Given the description of an element on the screen output the (x, y) to click on. 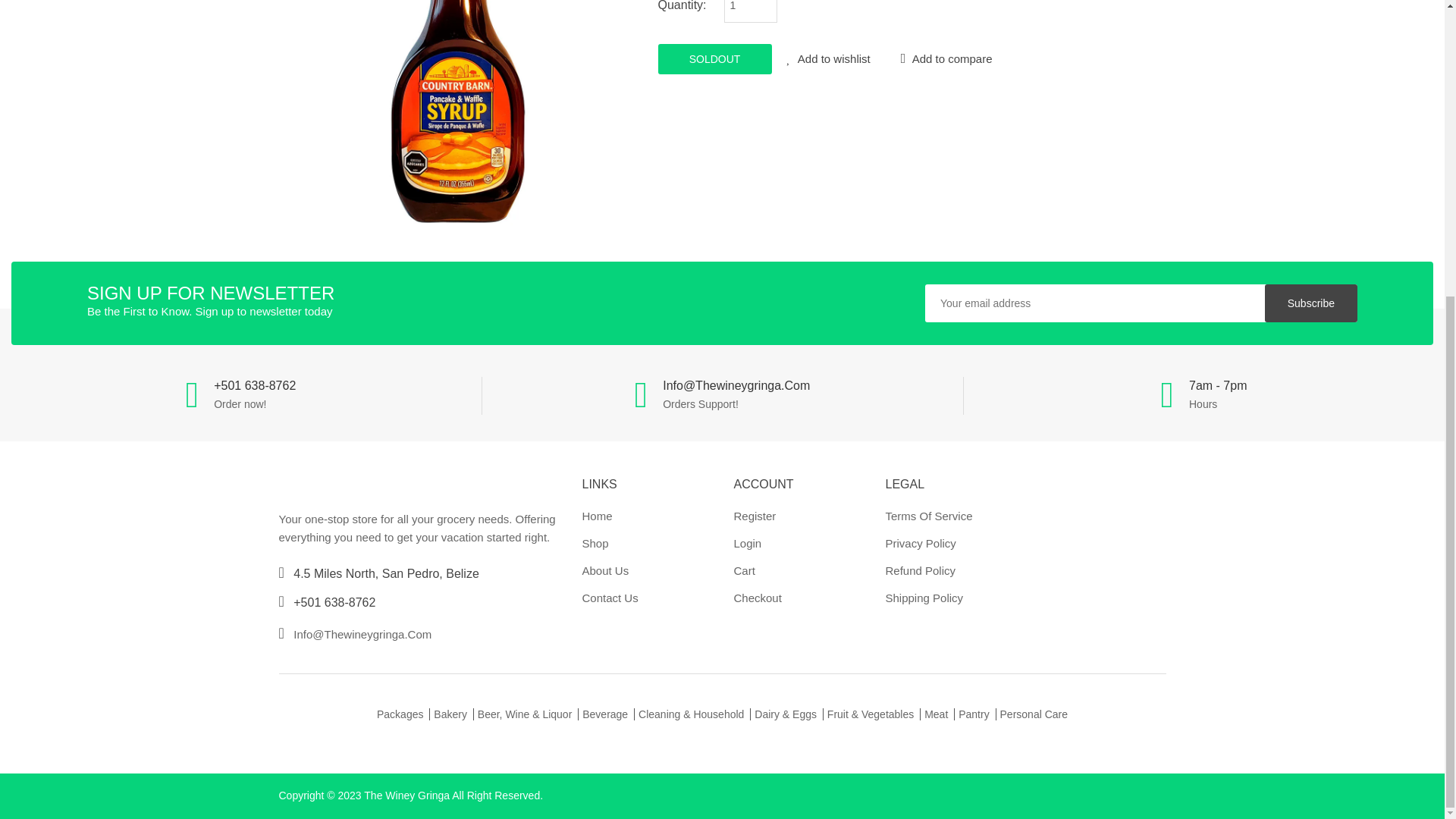
Wishlist (828, 58)
Add to Compare (946, 58)
1 (750, 11)
